Given the description of an element on the screen output the (x, y) to click on. 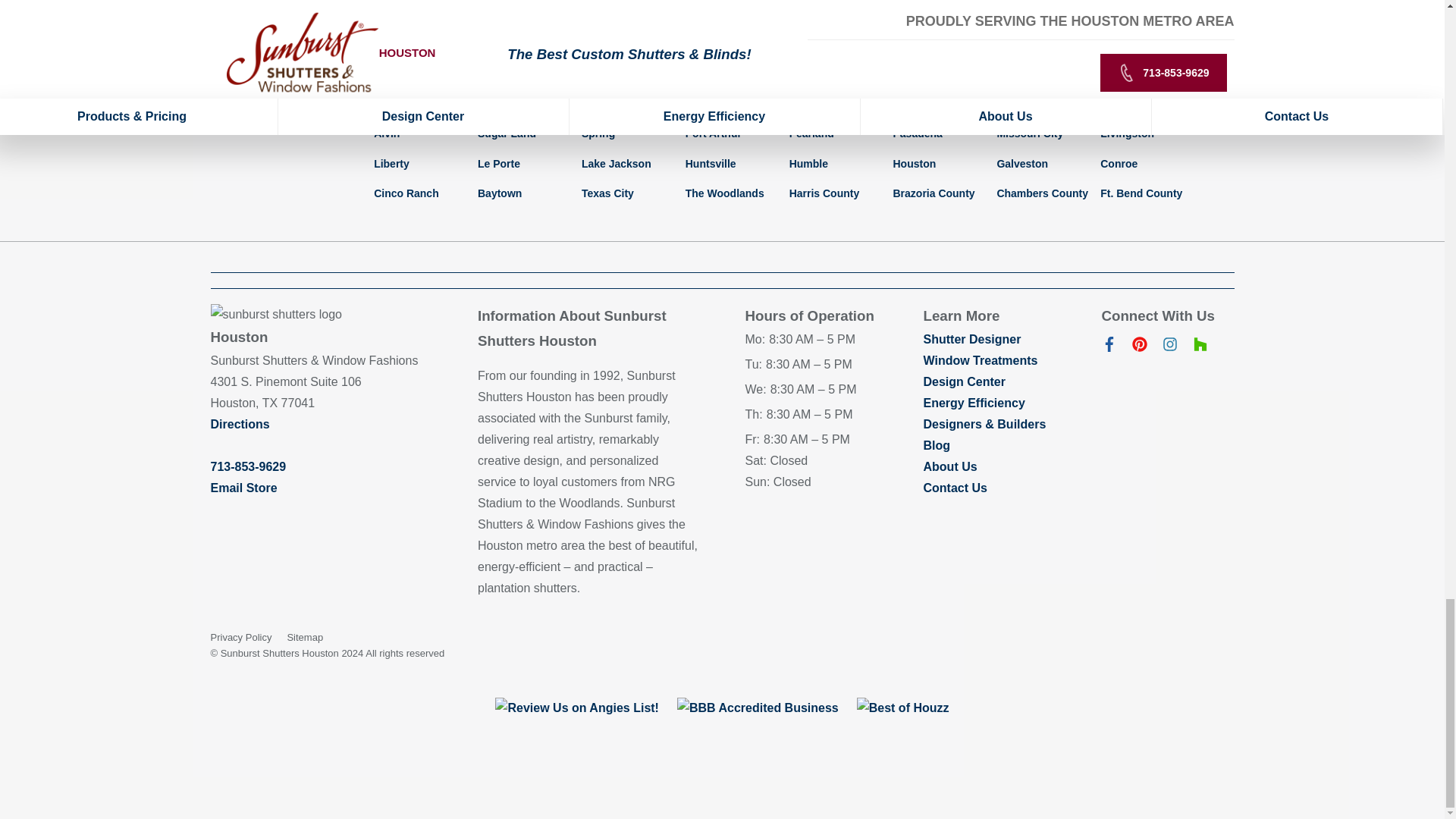
Like us on Facebook (1108, 347)
Review Us on Angies List! (576, 708)
Follow us on Instagram (1168, 347)
Best of Houzz (903, 708)
Save us on Houzz (1199, 347)
BBB Accredited Business (757, 708)
Follow us on Pinterest (1139, 347)
